Given the description of an element on the screen output the (x, y) to click on. 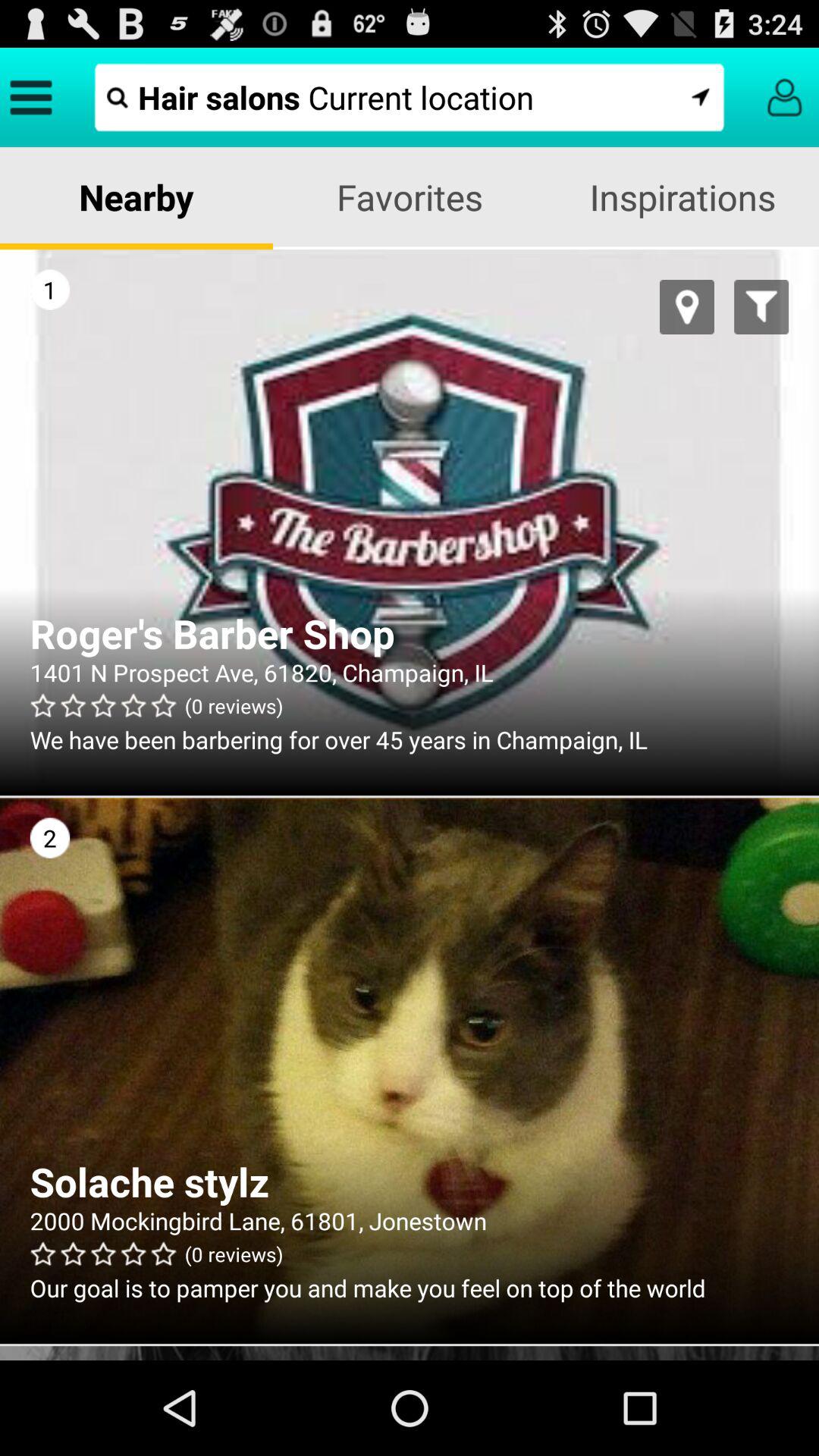
launch the item below the hair salons current app (409, 196)
